Given the description of an element on the screen output the (x, y) to click on. 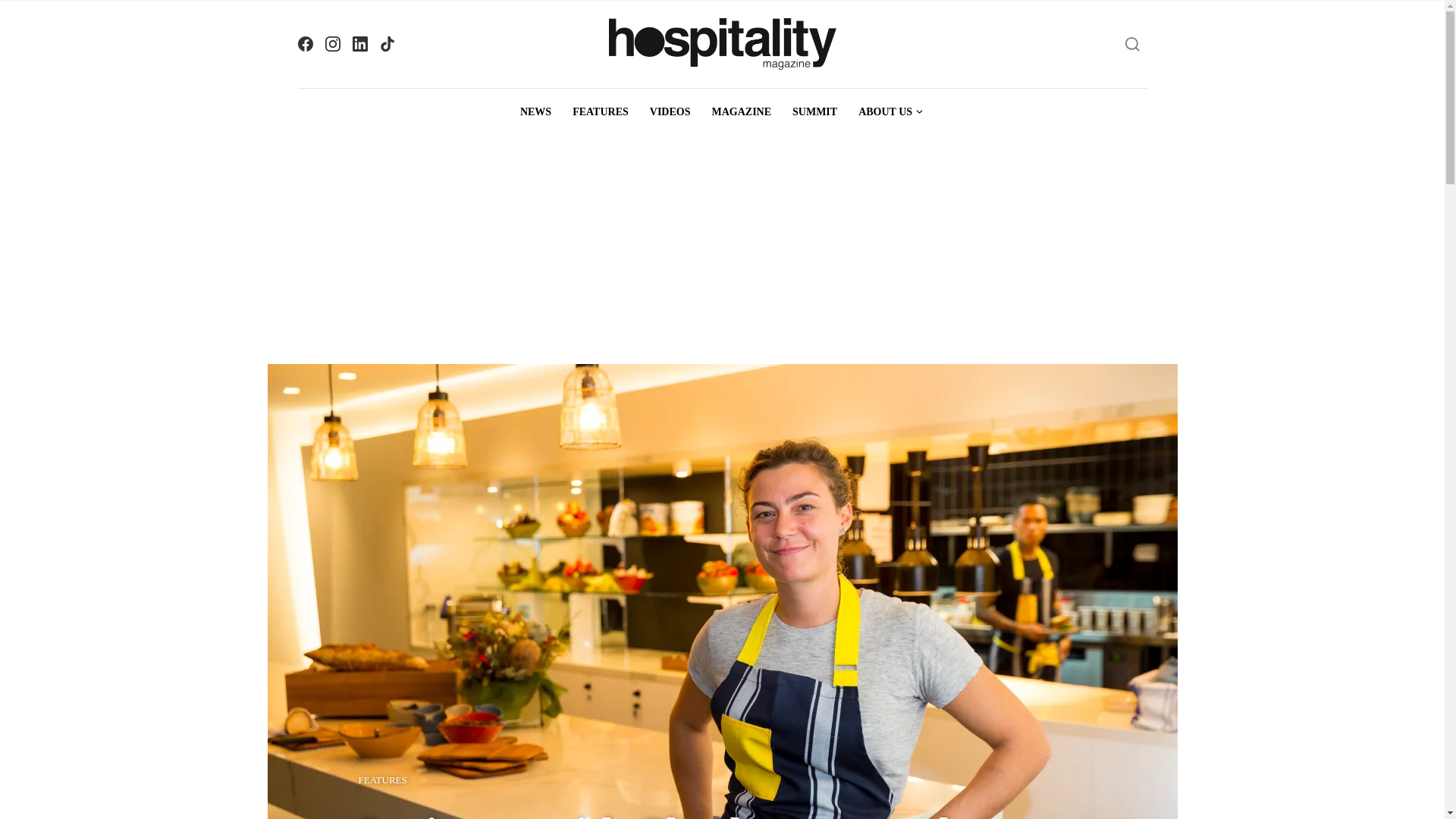
MAGAZINE (740, 111)
NEWS (535, 111)
ABOUT US (890, 111)
View all posts in Features (382, 779)
FEATURES (382, 779)
VIDEOS (670, 111)
FEATURES (600, 111)
SUMMIT (814, 111)
